Given the description of an element on the screen output the (x, y) to click on. 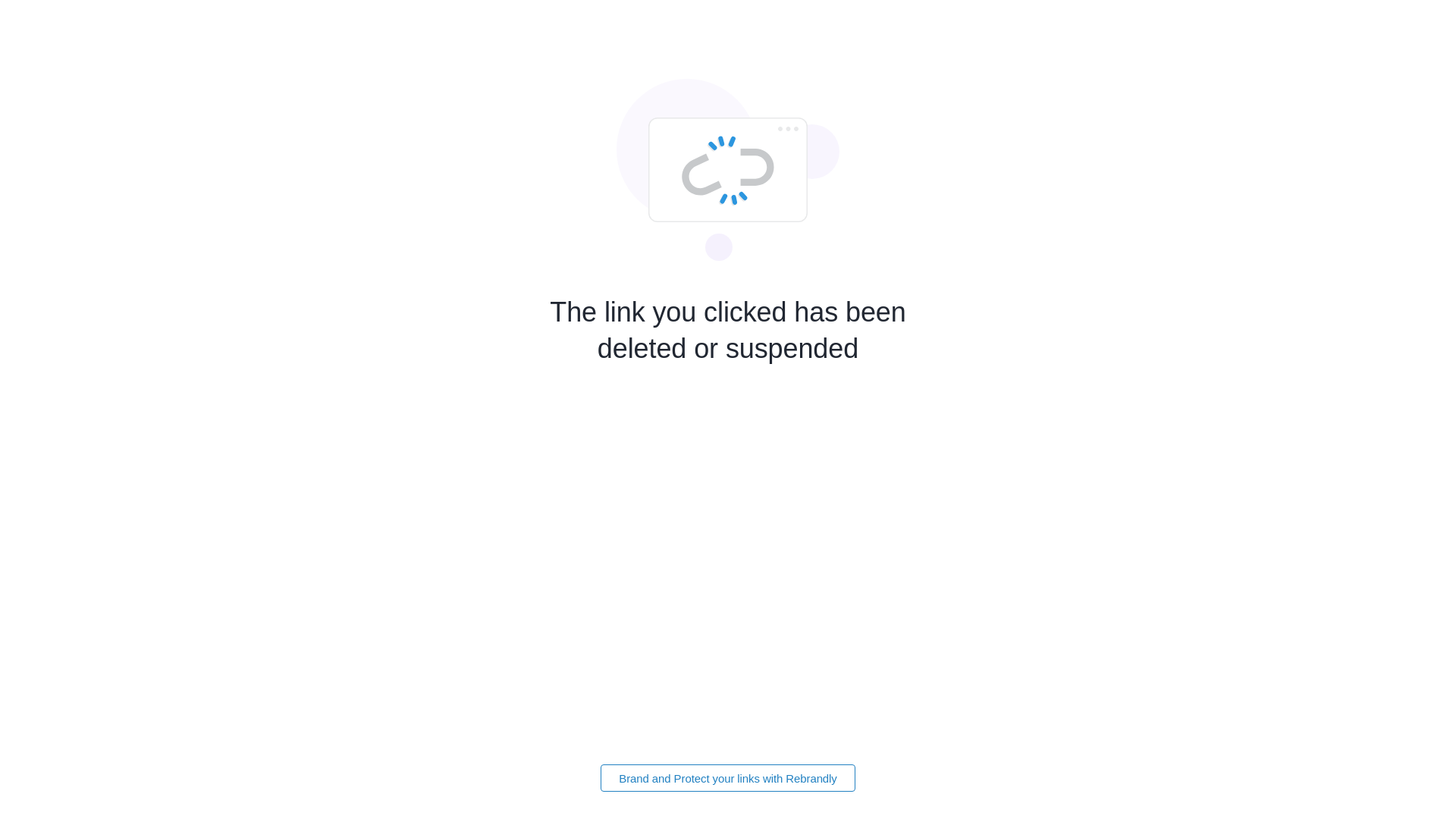
Brand and Protect your links with Rebrandly Element type: text (727, 777)
